Given the description of an element on the screen output the (x, y) to click on. 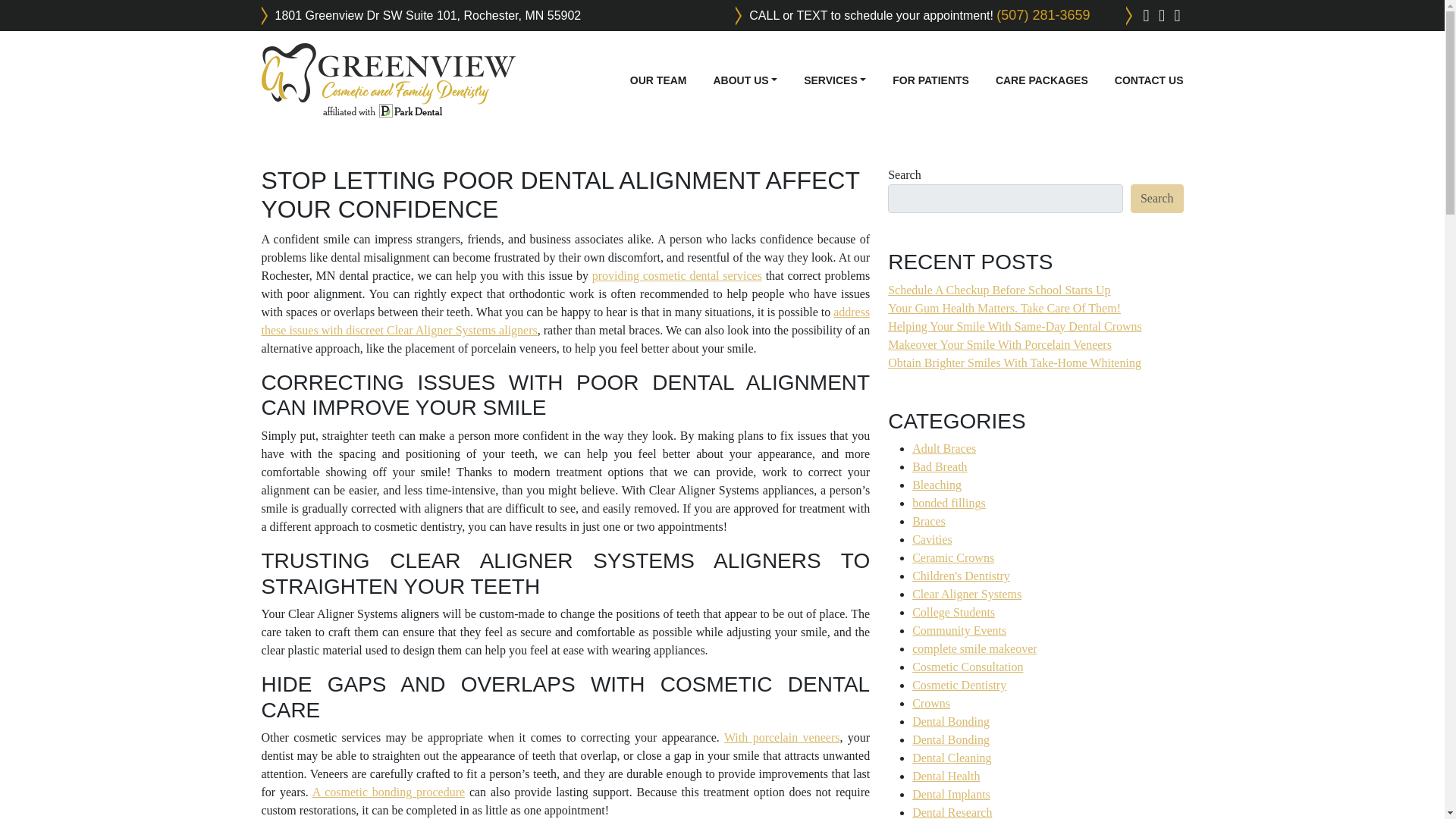
Children's Dentistry (961, 575)
providing cosmetic dental services (676, 275)
CONTACT US (1149, 80)
A cosmetic bonding procedure (388, 791)
For Patients (930, 80)
Our Team (658, 80)
Helping Your Smile With Same-Day Dental Crowns (1014, 326)
Schedule A Checkup Before School Starts Up (998, 289)
Bad Breath (939, 466)
